Given the description of an element on the screen output the (x, y) to click on. 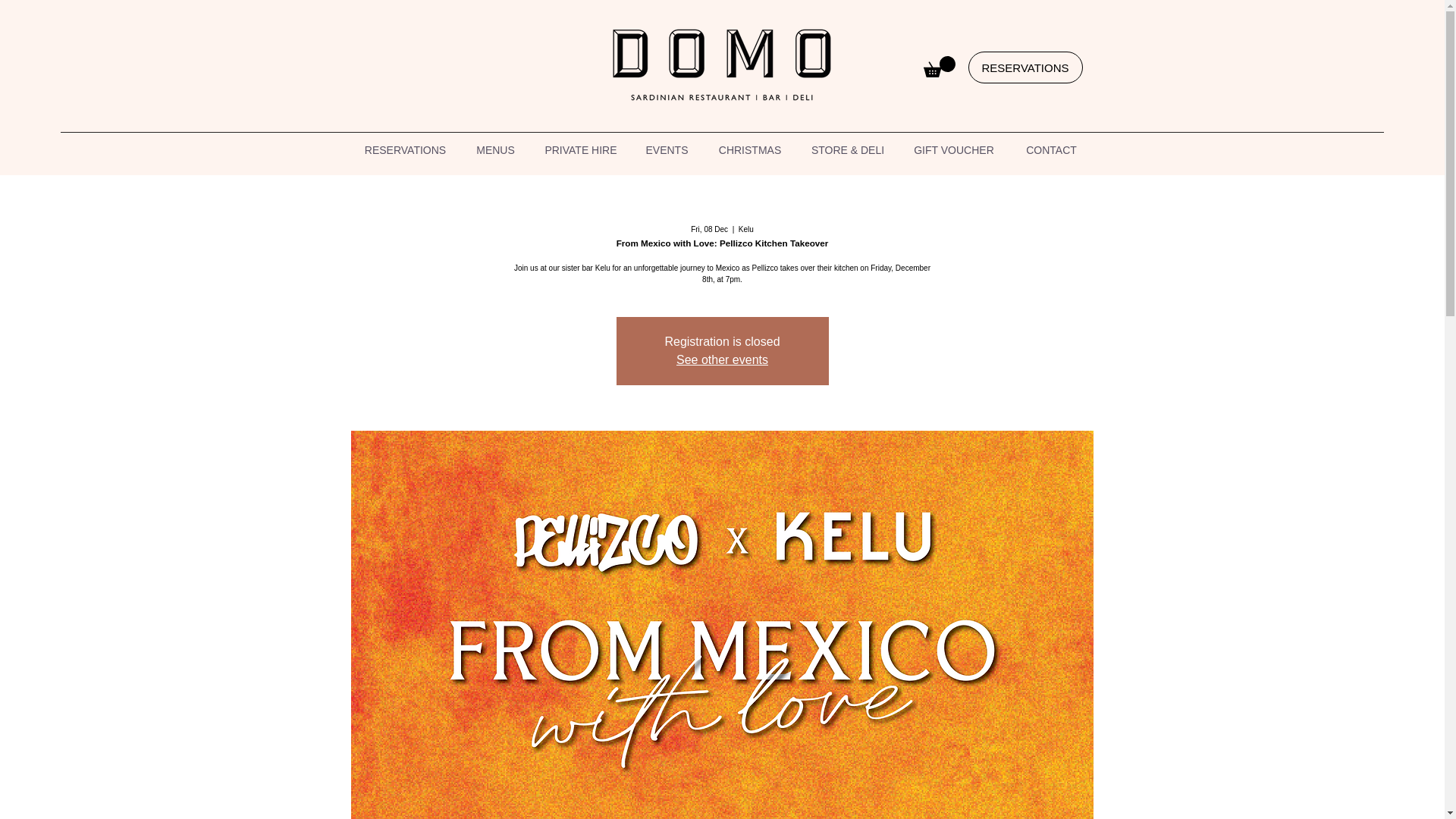
See other events (722, 359)
CONTACT (1051, 149)
EVENTS (666, 149)
RESERVATIONS (405, 149)
MENUS (495, 149)
PRIVATE HIRE (580, 149)
GIFT VOUCHER (954, 149)
RESERVATIONS (1024, 67)
CHRISTMAS (749, 149)
